Given the description of an element on the screen output the (x, y) to click on. 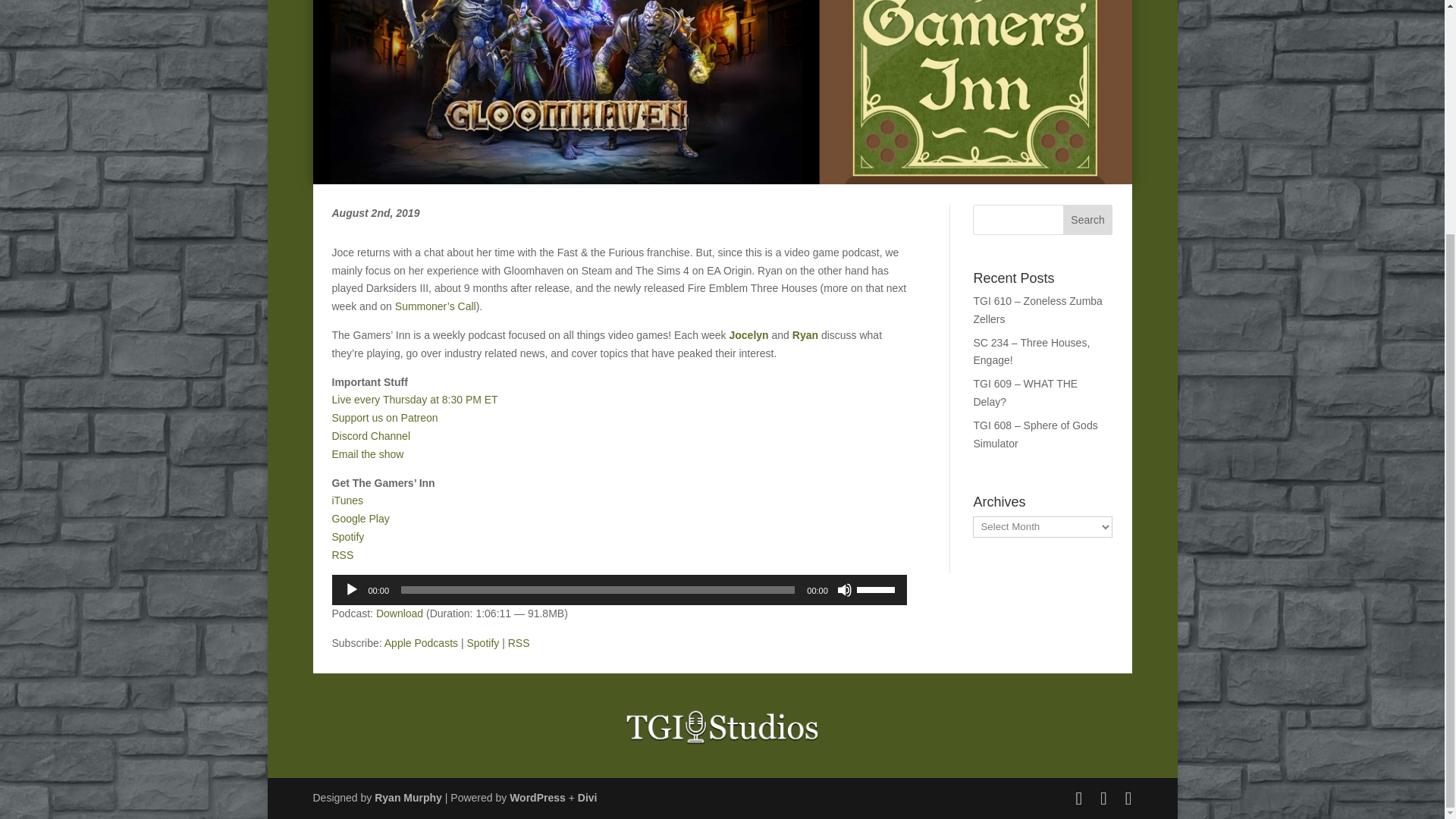
Google Play (360, 518)
Search (1087, 219)
RSS (342, 554)
iTunes (347, 500)
Spotify (482, 643)
Download (399, 613)
Discord Channel (370, 435)
Ryan (805, 335)
Support us on Patreon (384, 417)
Live every Thursday at 8:30 PM ET (414, 399)
Apple Podcasts (421, 643)
Search (1087, 219)
Play (351, 589)
Jocelyn (748, 335)
Download (399, 613)
